Given the description of an element on the screen output the (x, y) to click on. 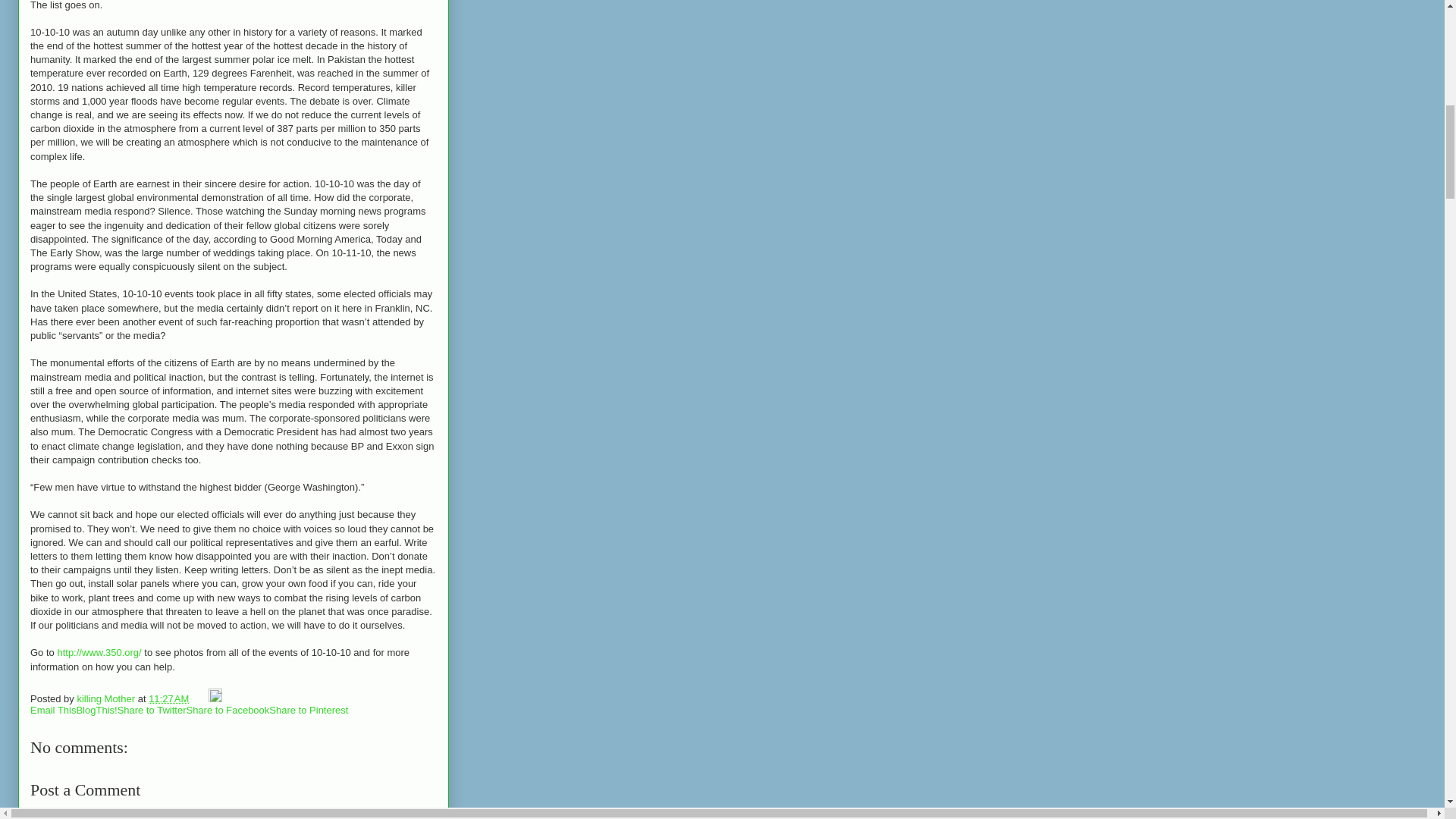
Share to Twitter (151, 709)
Share to Pinterest (308, 709)
BlogThis! (95, 709)
killing Mother (106, 698)
Share to Pinterest (308, 709)
BlogThis! (95, 709)
author profile (106, 698)
Share to Facebook (227, 709)
Email Post (200, 698)
permanent link (168, 698)
Email This (52, 709)
Share to Facebook (227, 709)
Email This (52, 709)
Edit Post (214, 698)
